Given the description of an element on the screen output the (x, y) to click on. 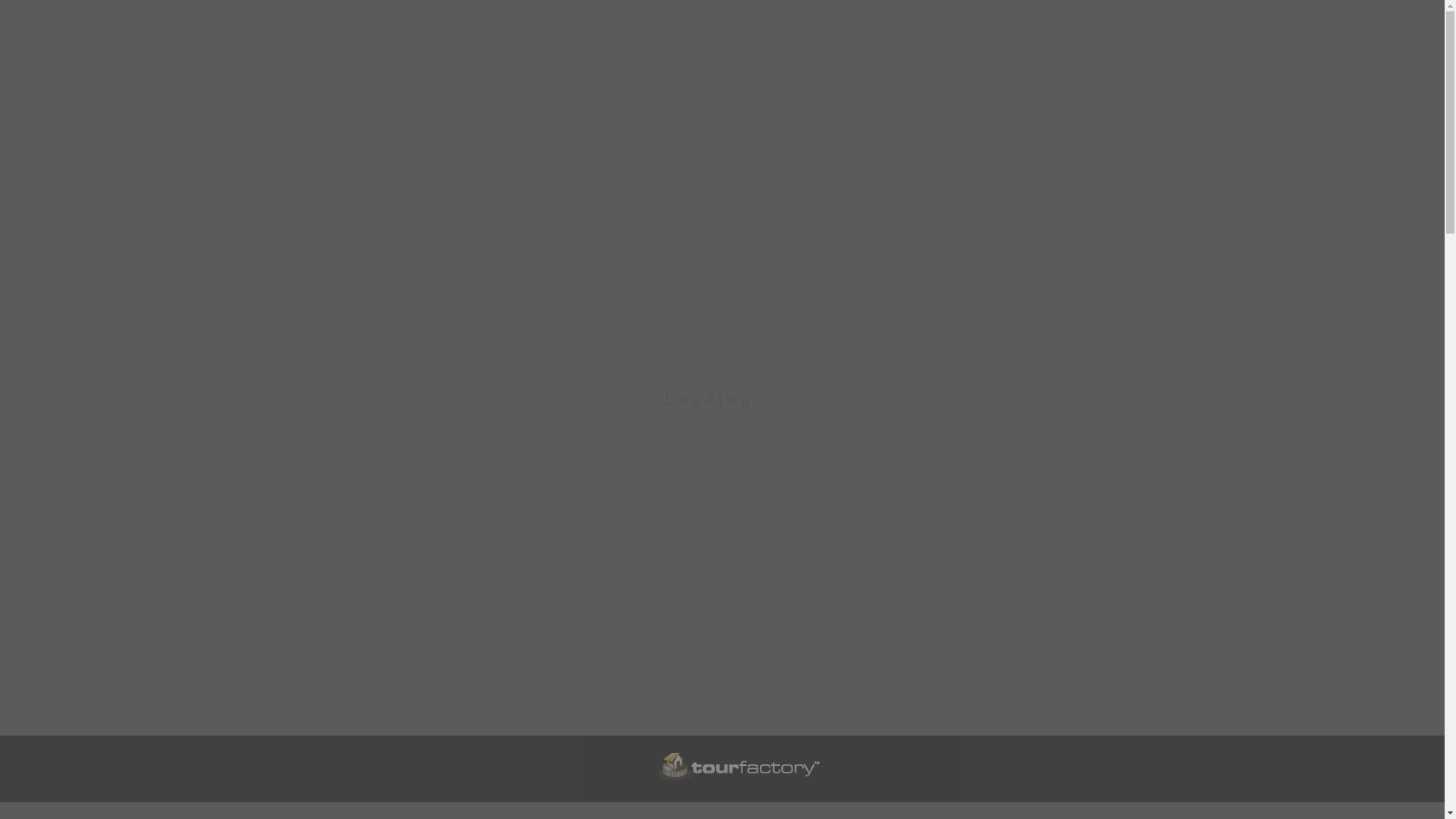
Tweet This Property Element type: hover (1393, 747)
Share This Property on Facebook Element type: hover (1321, 747)
